Given the description of an element on the screen output the (x, y) to click on. 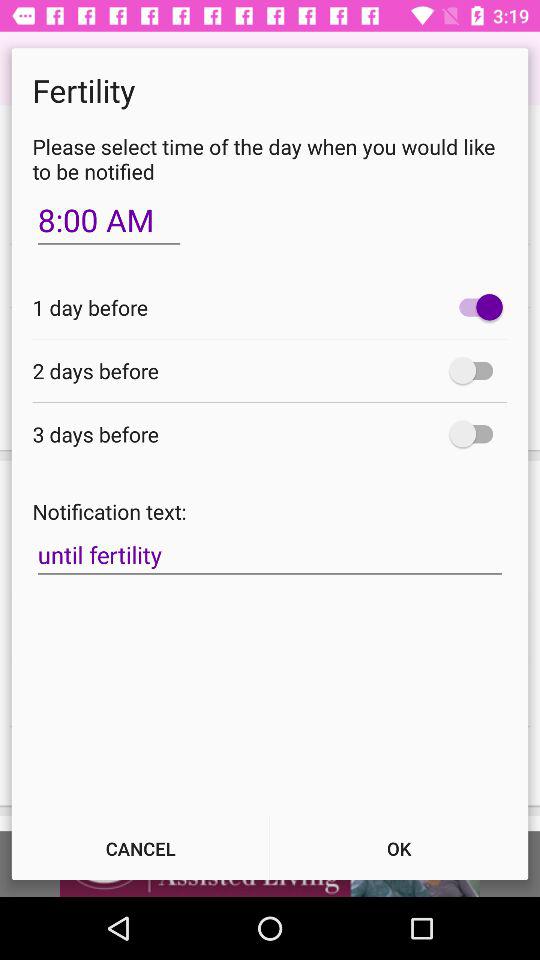
open the item below please select time (108, 220)
